Given the description of an element on the screen output the (x, y) to click on. 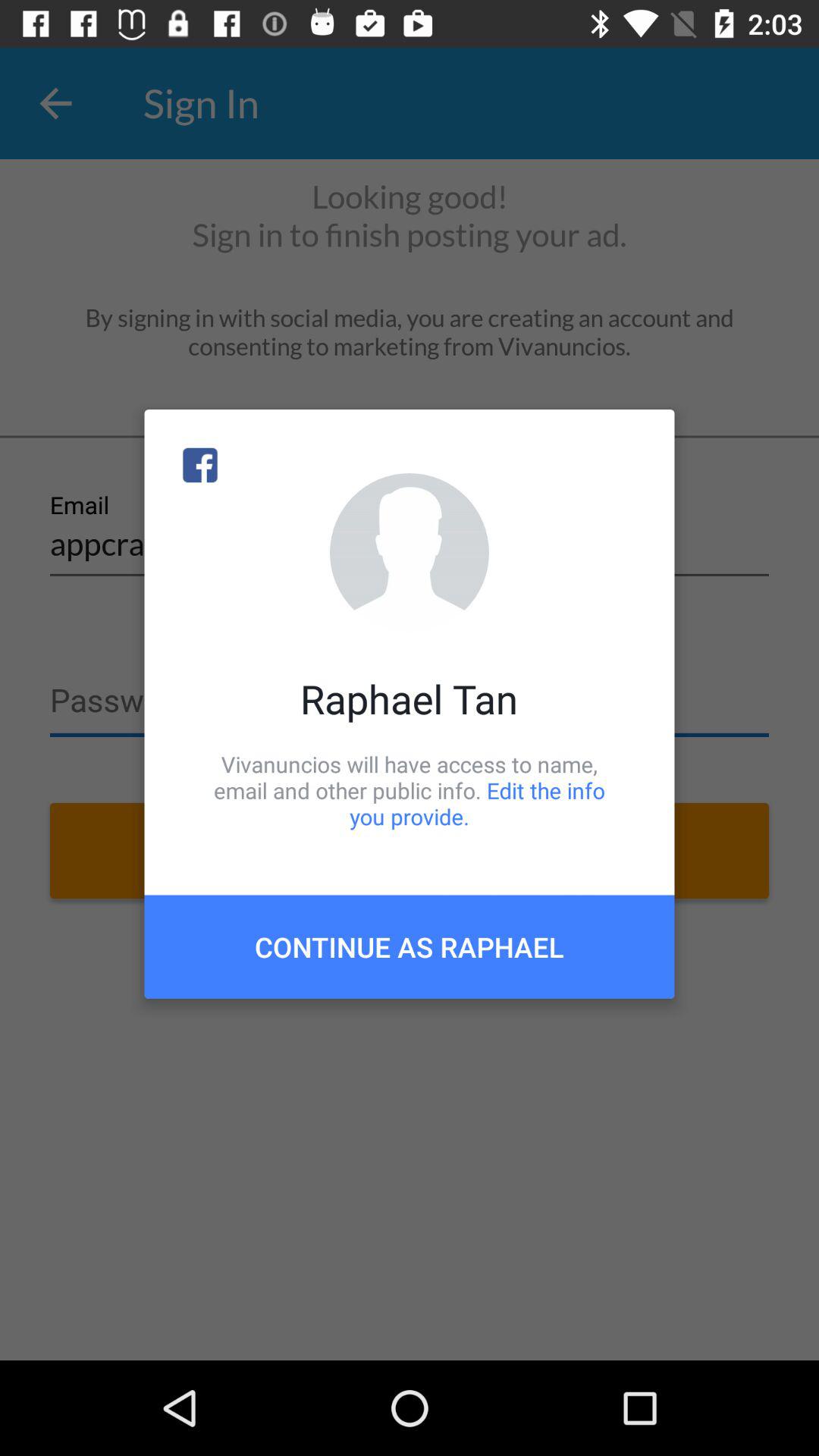
press item above the continue as raphael item (409, 790)
